Given the description of an element on the screen output the (x, y) to click on. 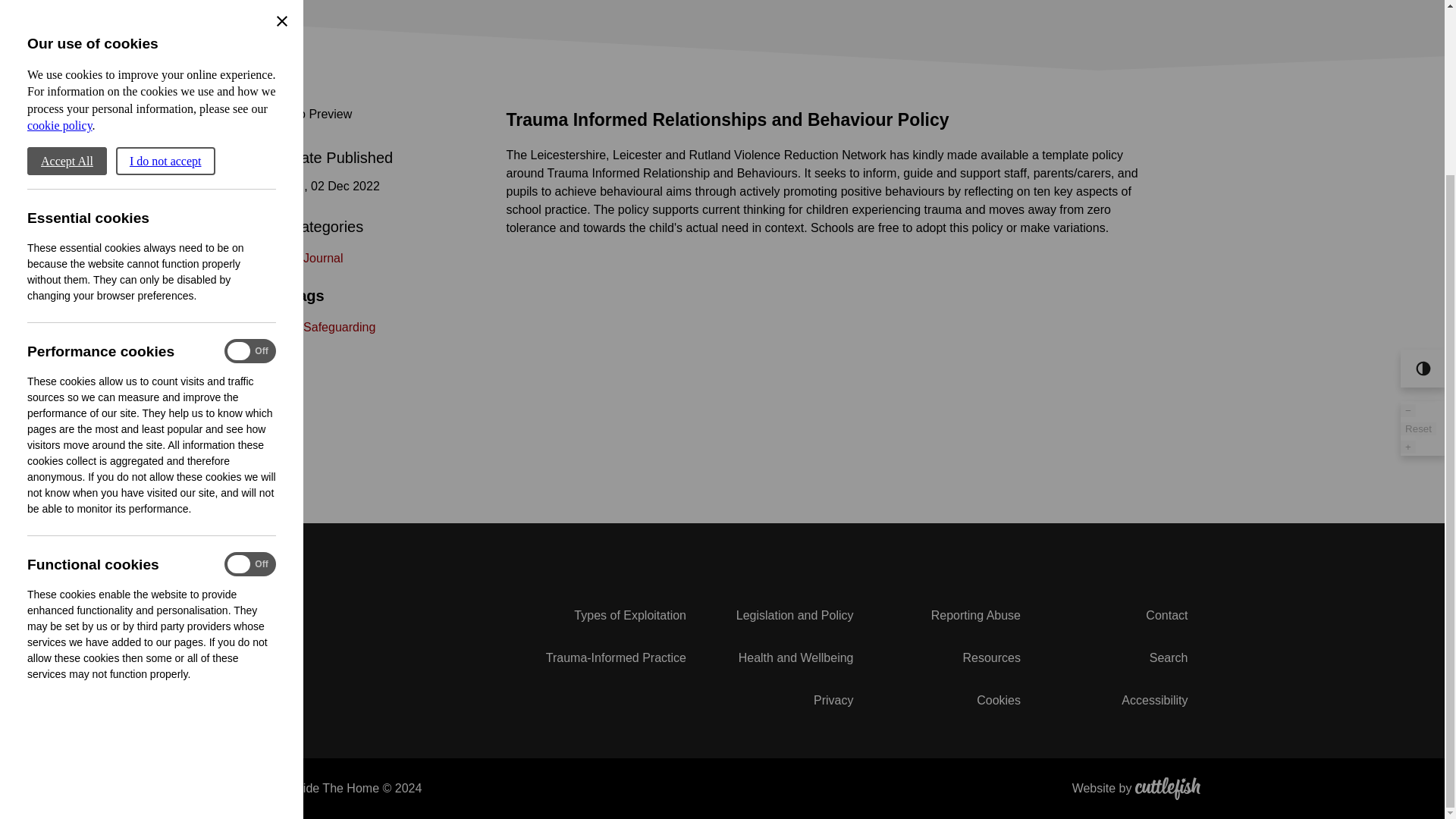
Reset (1417, 215)
